Given the description of an element on the screen output the (x, y) to click on. 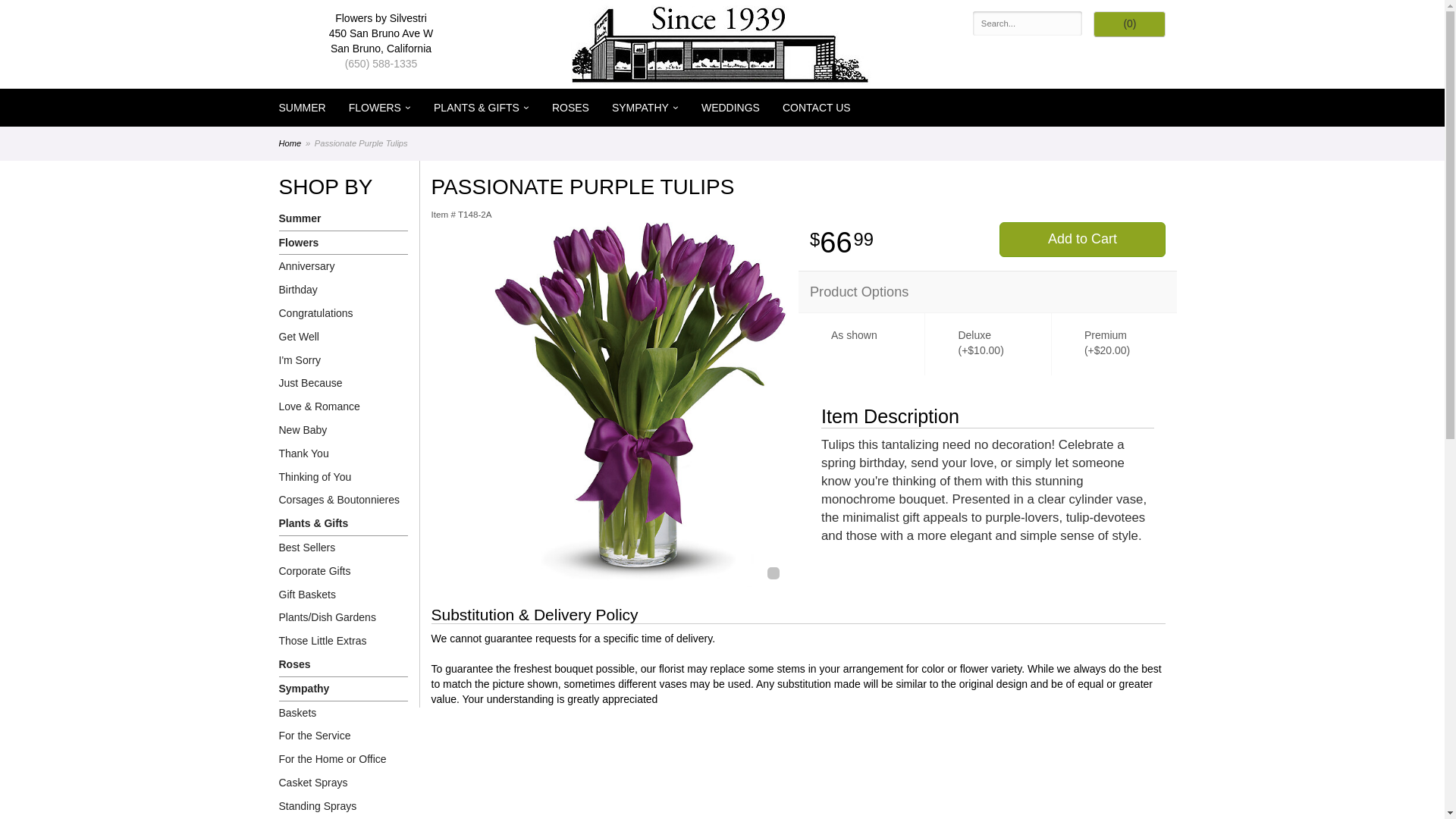
CONTACT US (816, 107)
WEDDINGS (730, 107)
SYMPATHY (644, 107)
SUMMER (301, 107)
Anniversary (343, 266)
FLOWERS (379, 107)
Flowers (343, 242)
Birthday (343, 290)
Home (290, 143)
Summer (343, 218)
